Given the description of an element on the screen output the (x, y) to click on. 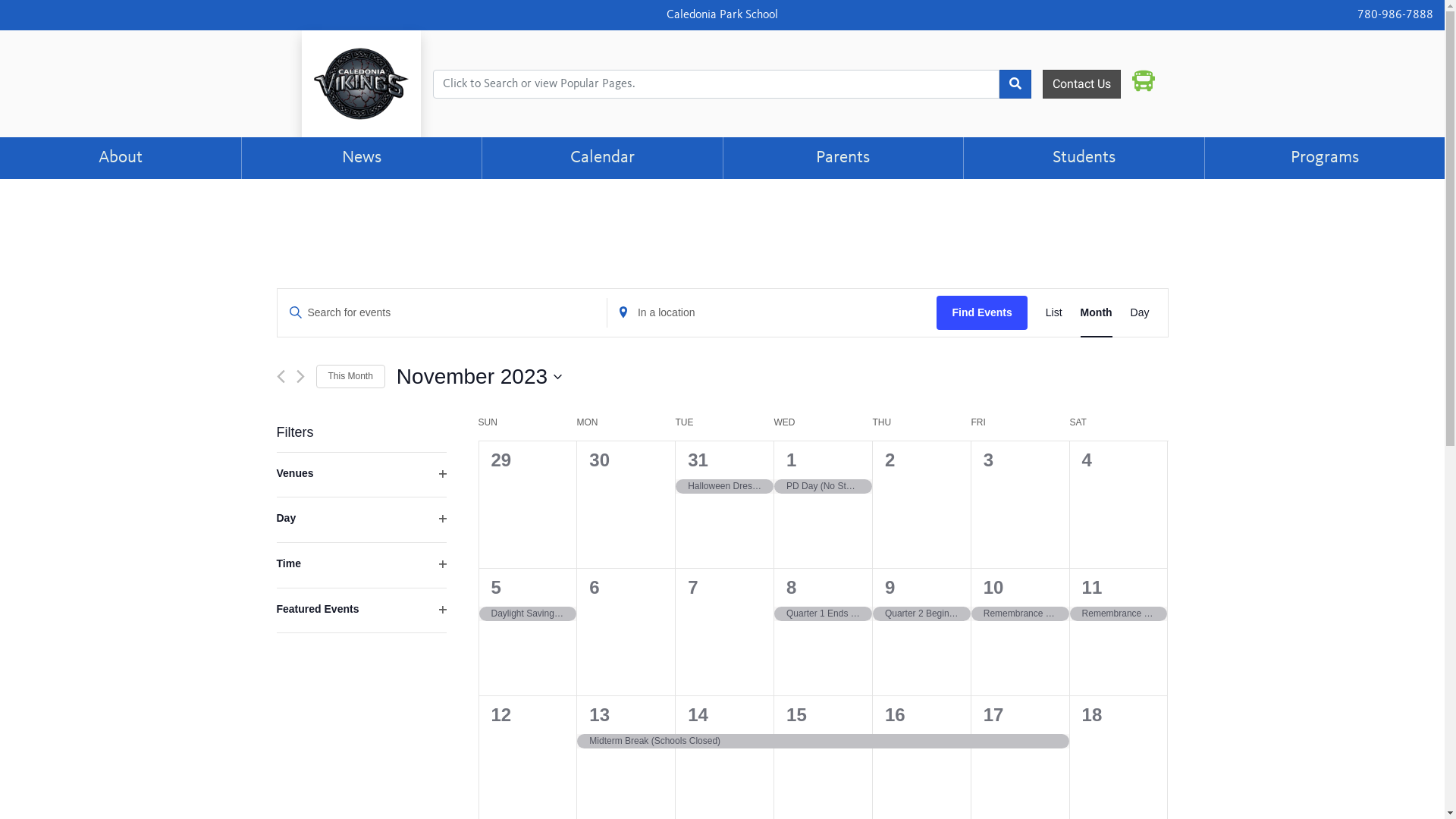
16 Element type: text (894, 714)
1 Element type: text (791, 459)
Students Element type: text (1083, 157)
Day Element type: text (1139, 312)
Find Events Element type: text (981, 312)
Time
Open filter Element type: text (360, 564)
News Element type: text (361, 157)
Month Element type: text (1096, 312)
Calendar Element type: text (601, 157)
About Element type: text (120, 157)
8 Element type: text (791, 587)
Venues
Open filter Element type: text (360, 474)
Programs Element type: text (1324, 157)
Parents Element type: text (842, 157)
Day
Open filter Element type: text (360, 519)
14 Element type: text (697, 714)
13 Element type: text (599, 714)
10 Element type: text (993, 587)
This Month Element type: text (349, 376)
Featured Events
Open filter Element type: text (360, 610)
31 Element type: text (697, 459)
List Element type: text (1053, 312)
Contact Us Element type: text (1080, 83)
11 Element type: text (1092, 587)
November 2023 Element type: text (478, 376)
Previous month Element type: hover (280, 376)
15 Element type: text (796, 714)
17 Element type: text (993, 714)
9 Element type: text (889, 587)
5 Element type: text (496, 587)
Next month Element type: hover (299, 376)
